Given the description of an element on the screen output the (x, y) to click on. 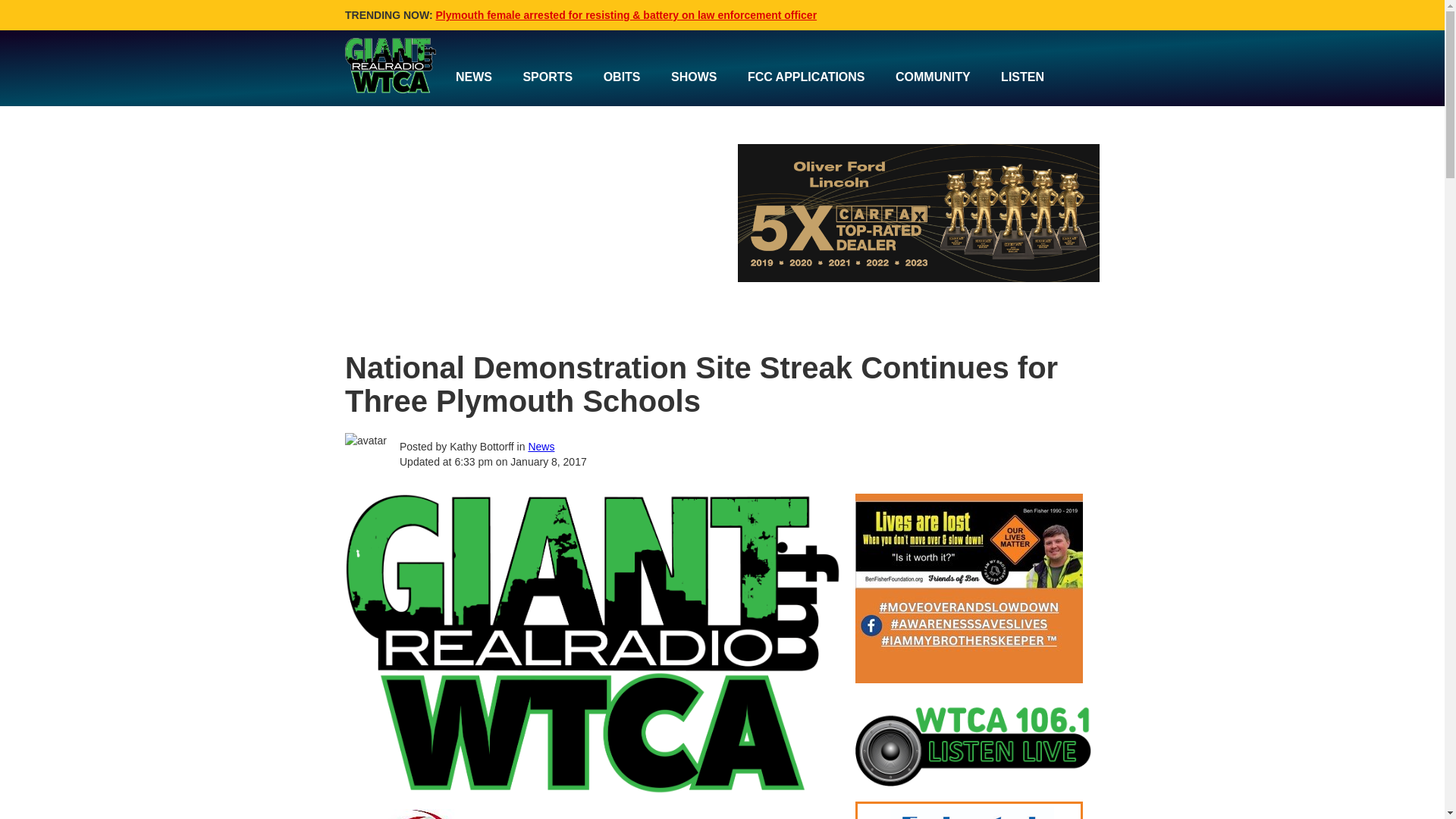
SHOWS (694, 77)
COMMUNITY (933, 77)
OBITS (621, 77)
SPORTS (547, 77)
FCC APPLICATIONS (806, 77)
News (540, 446)
NEWS (473, 77)
LISTEN (1022, 77)
